Given the description of an element on the screen output the (x, y) to click on. 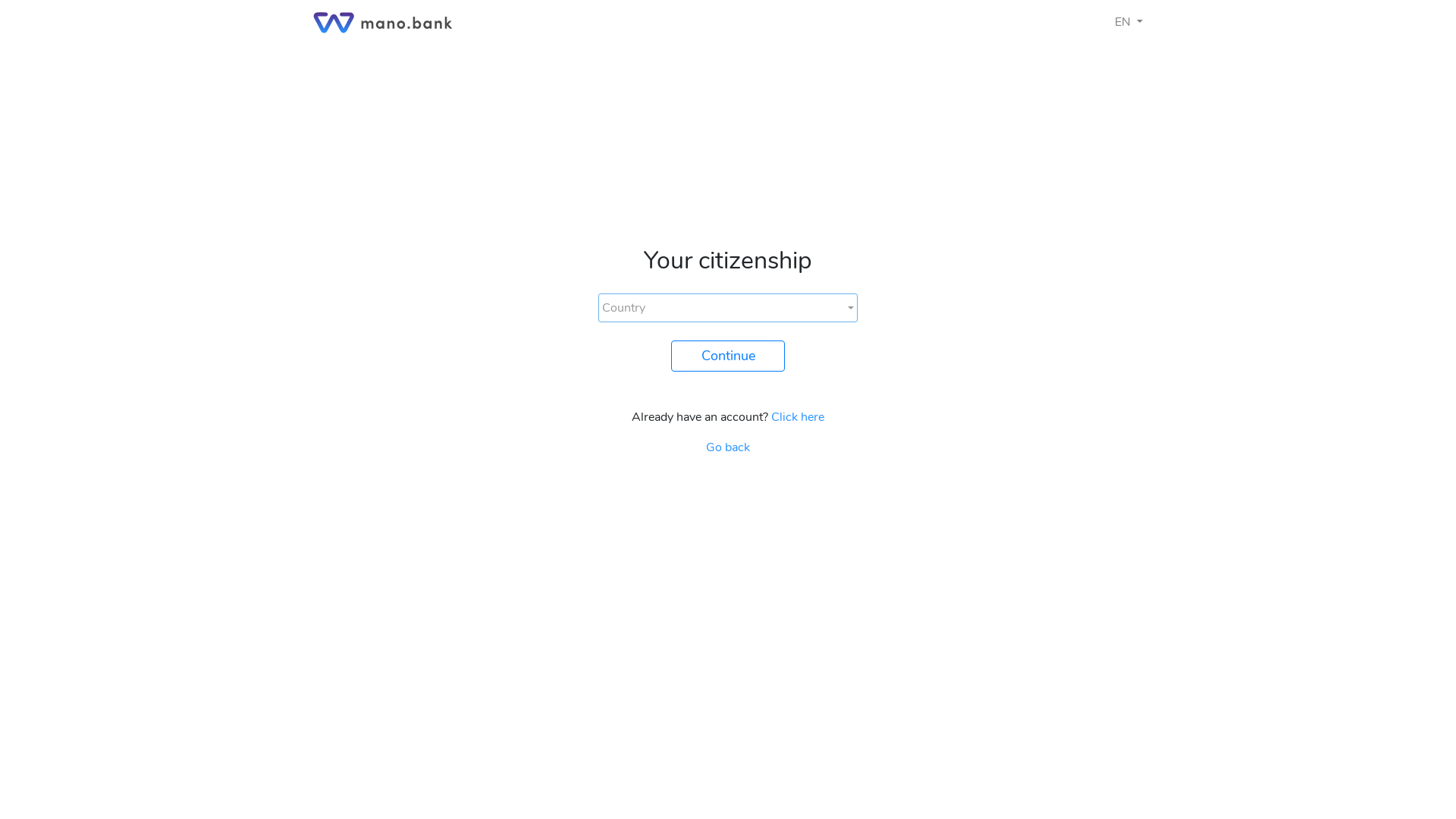
Go back Element type: text (727, 447)
EN Element type: text (1128, 21)
Continue Element type: text (727, 355)
Country Element type: text (727, 307)
Click here Element type: text (797, 416)
